Given the description of an element on the screen output the (x, y) to click on. 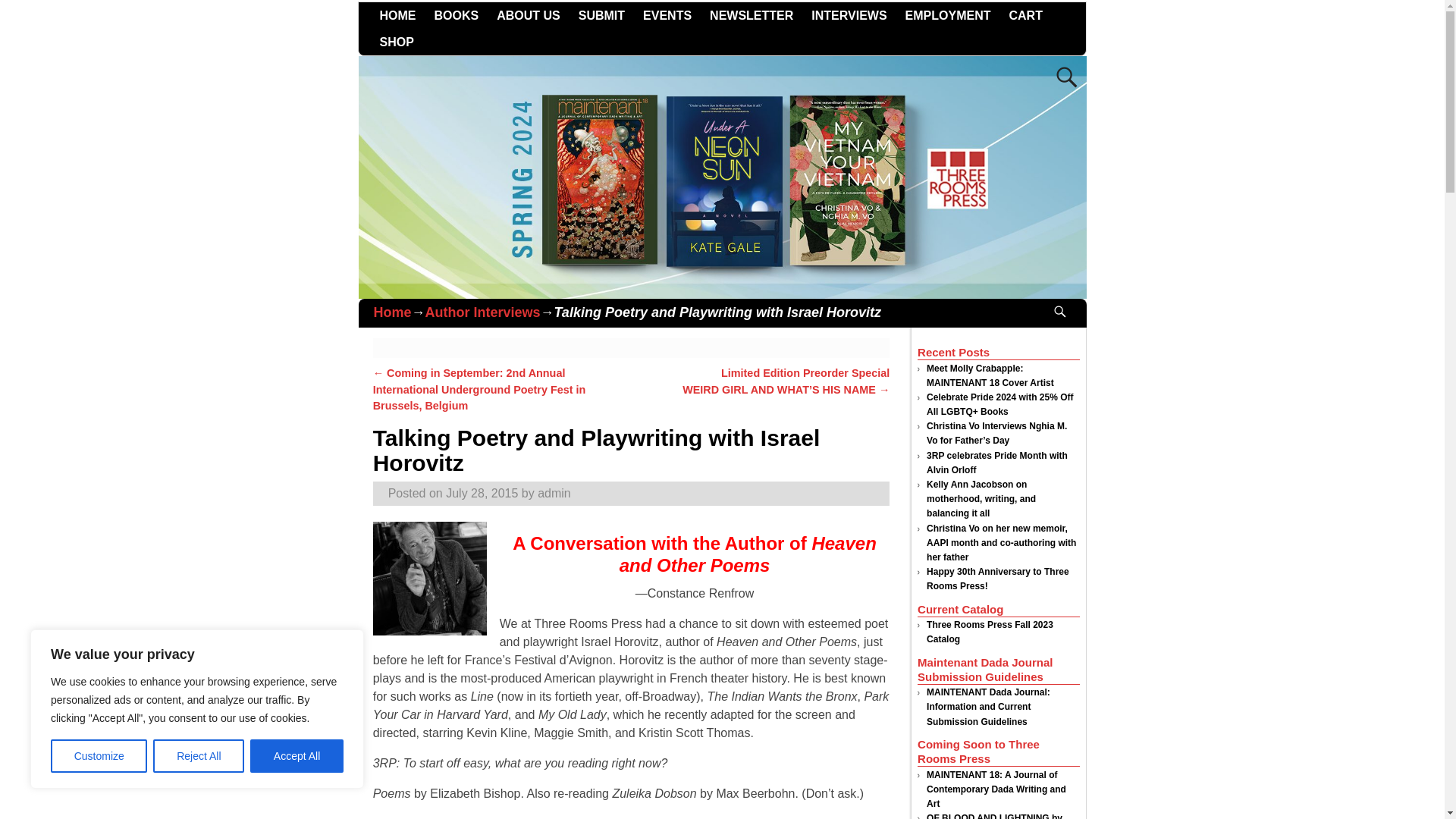
SHOP (395, 41)
NEWSLETTER (751, 15)
EMPLOYMENT (948, 15)
12:21 pm (481, 492)
SUBMIT (601, 15)
INTERVIEWS (848, 15)
Reject All (198, 756)
admin (553, 492)
Accept All (296, 756)
View all posts by admin (553, 492)
Customize (98, 756)
July 28, 2015 (481, 492)
Home (391, 312)
ABOUT US (528, 15)
EVENTS (666, 15)
